Given the description of an element on the screen output the (x, y) to click on. 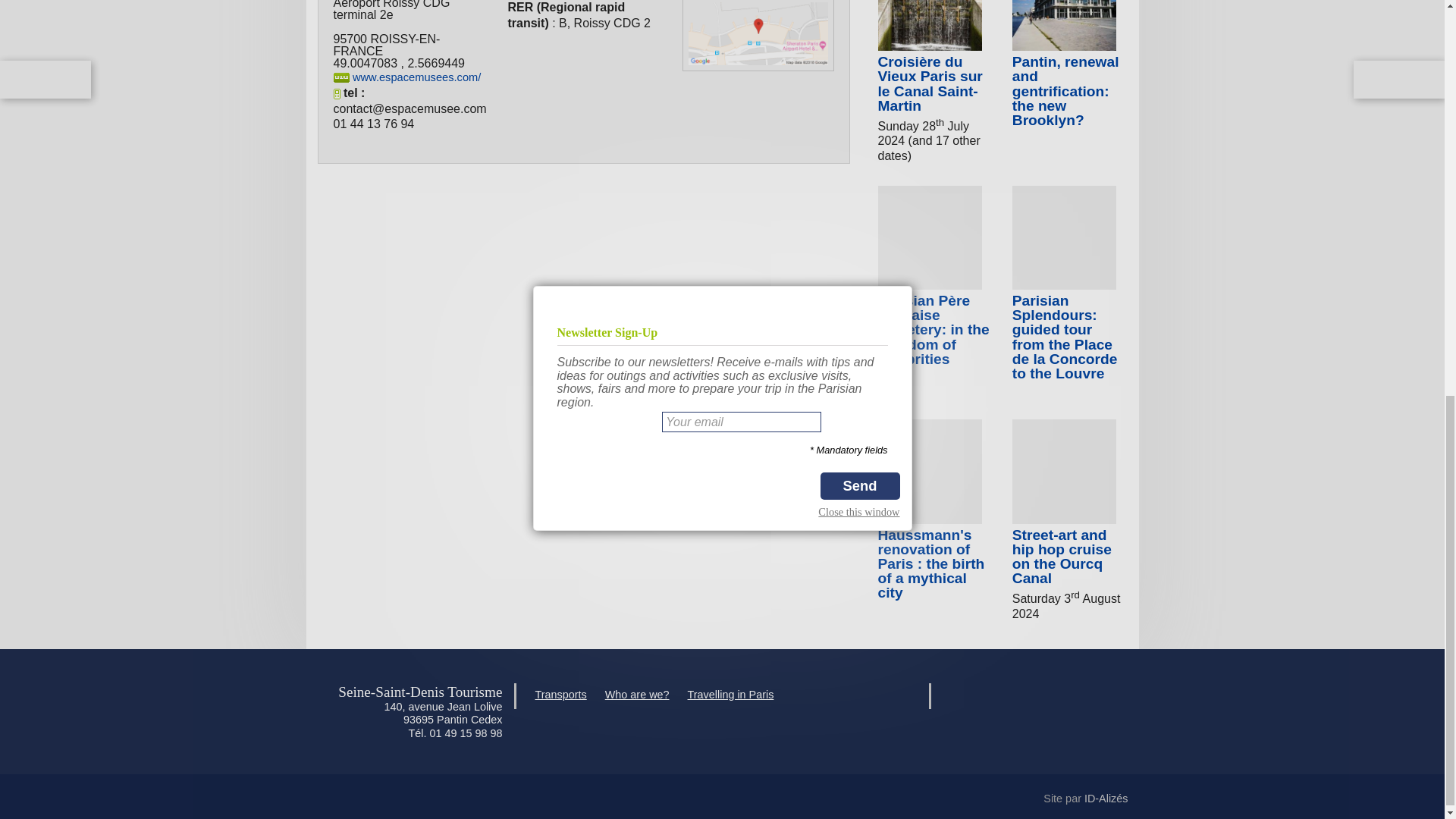
2.5669449 (435, 62)
49.0047083 (365, 62)
